Given the description of an element on the screen output the (x, y) to click on. 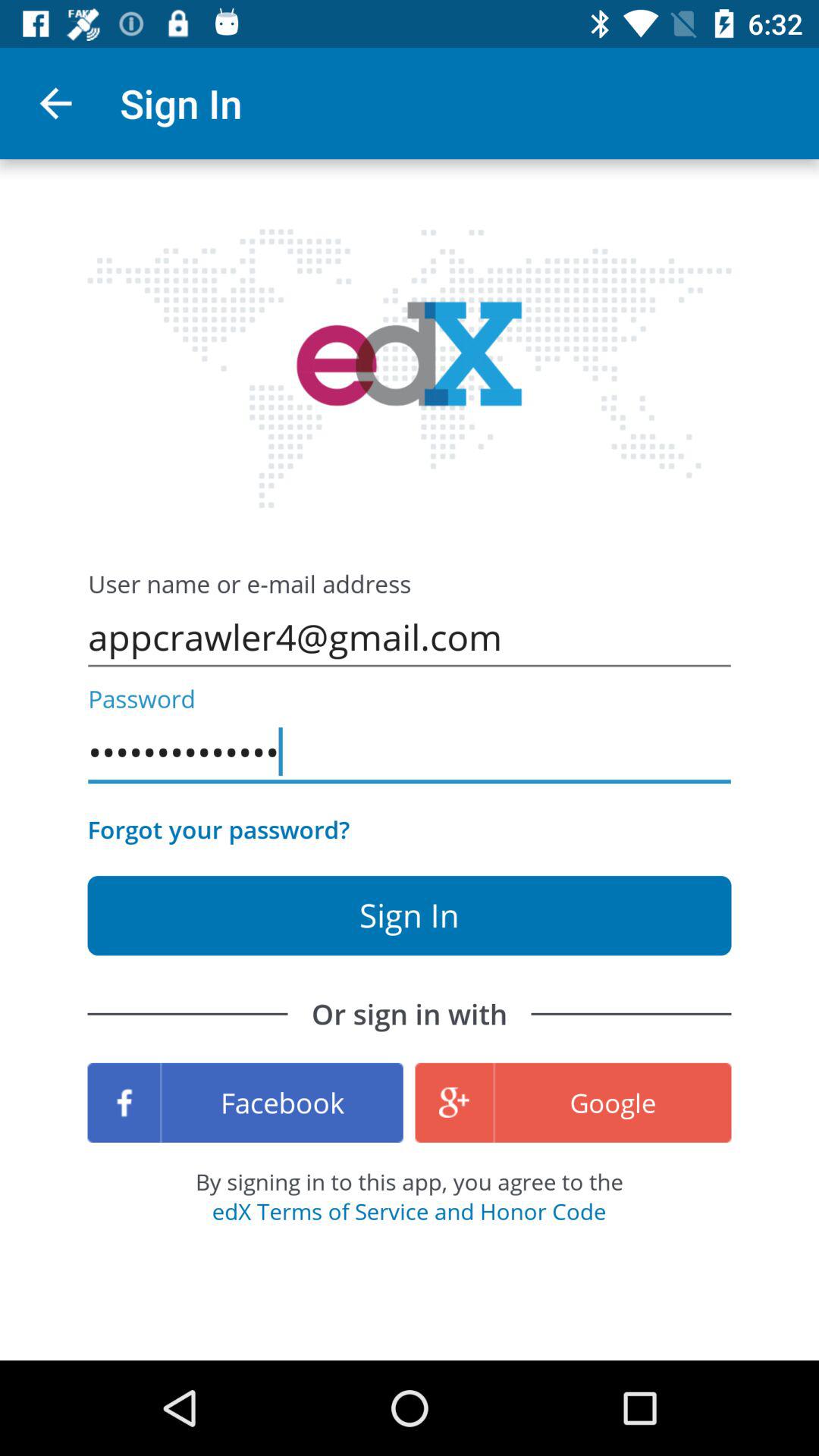
turn on the forgot your password? (218, 829)
